Given the description of an element on the screen output the (x, y) to click on. 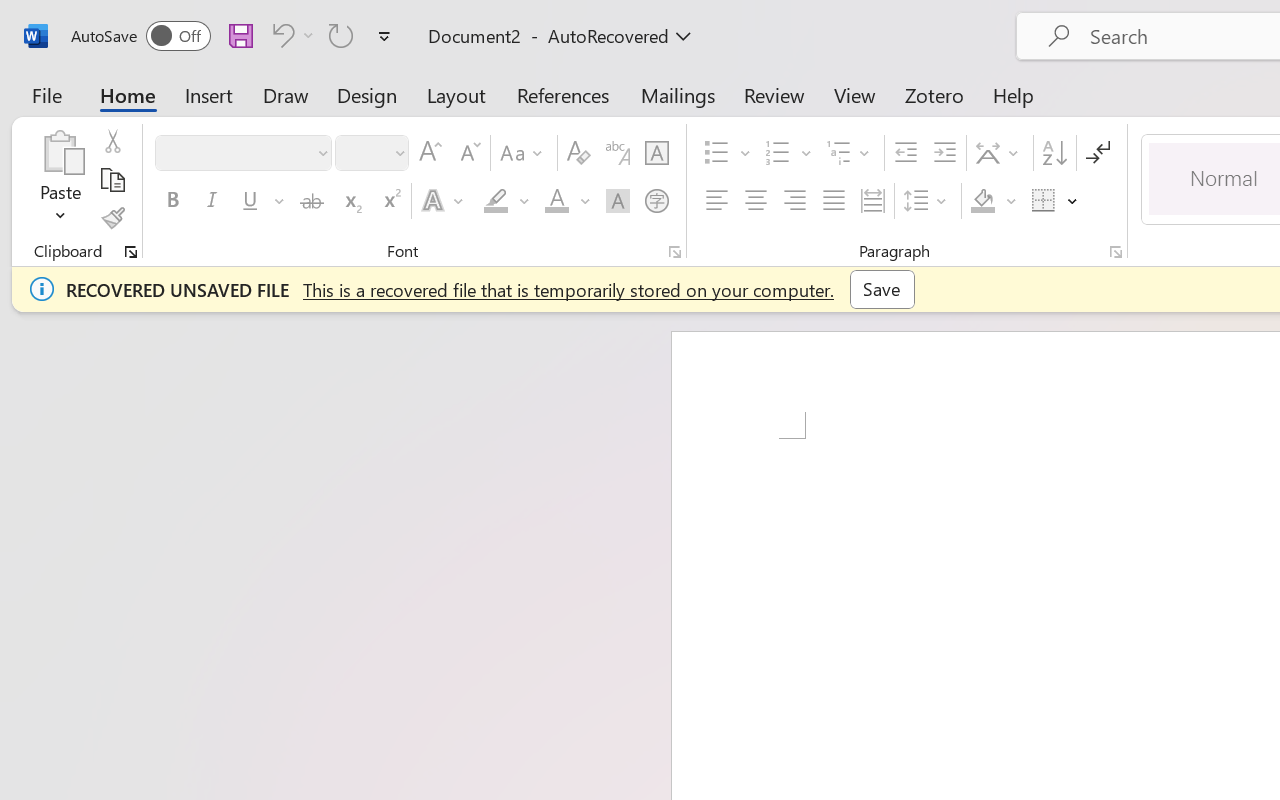
Multilevel List (850, 153)
